Given the description of an element on the screen output the (x, y) to click on. 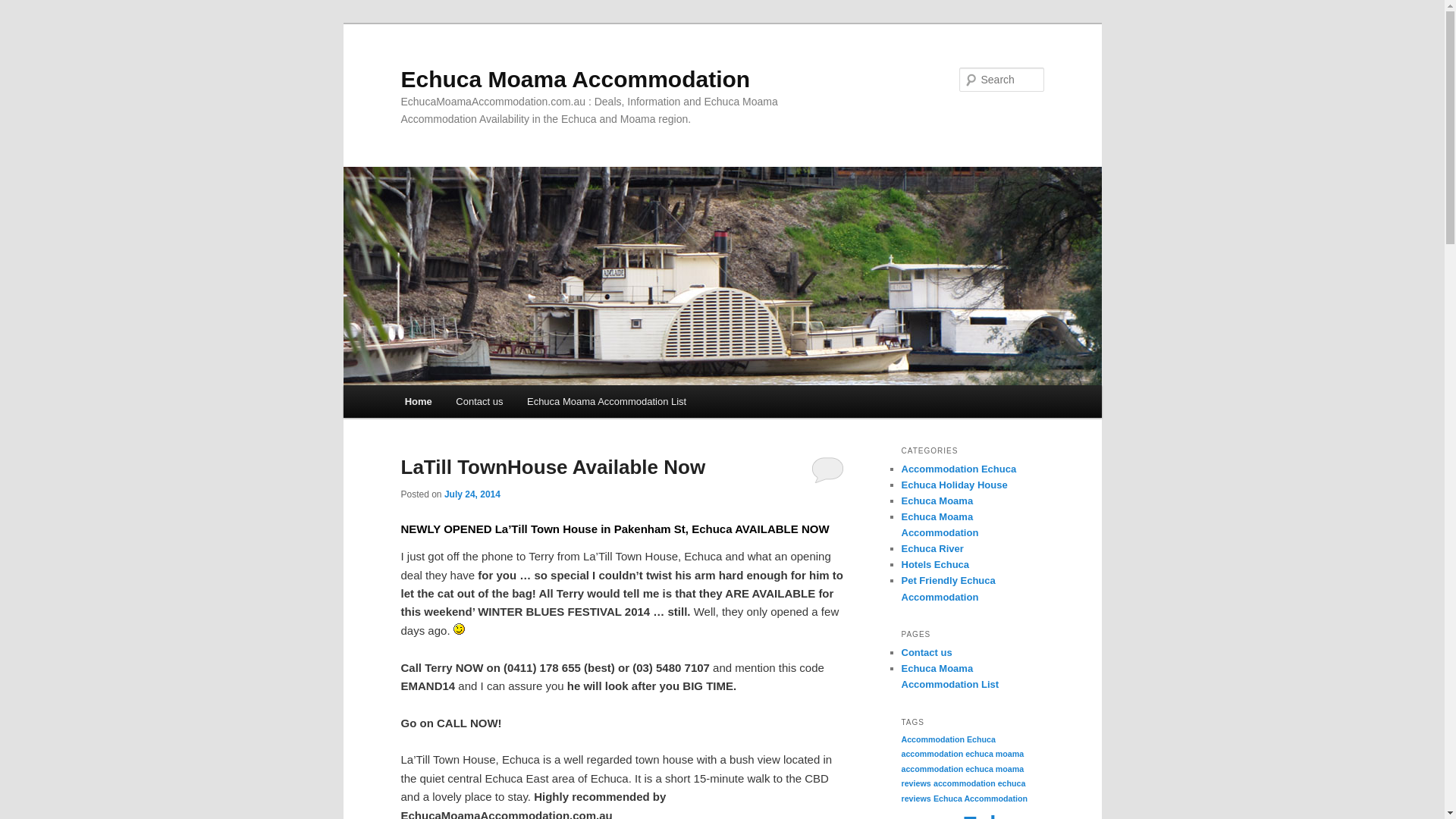
Contact us Element type: text (479, 401)
Pet Friendly Echuca Accommodation Element type: text (947, 588)
accommodation echuca moama Element type: text (961, 753)
Search Element type: text (20, 10)
Search Element type: text (24, 8)
Hotels Echuca Element type: text (934, 564)
Echuca Holiday House Element type: text (953, 484)
Skip to primary content Element type: text (472, 404)
Comment on LaTill TownHouse Available Now Element type: hover (827, 469)
Echuca River Element type: text (931, 548)
Home Element type: text (418, 401)
LaTill TownHouse Available Now Element type: text (552, 466)
Echuca Accommodation Element type: text (980, 798)
Echuca Moama Accommodation List Element type: text (606, 401)
Contact us Element type: text (925, 652)
Echuca Moama Element type: text (936, 500)
accommodation echuca reviews Element type: text (962, 790)
July 24, 2014 Element type: text (472, 494)
Echuca Moama Accommodation Element type: text (939, 524)
Skip to secondary content Element type: text (479, 404)
accommodation echuca moama reviews Element type: text (961, 776)
Accommodation Echuca Element type: text (958, 468)
Echuca Moama Accommodation List Element type: text (949, 676)
Accommodation Echuca Element type: text (947, 738)
Echuca Moama Accommodation Element type: text (574, 78)
